Given the description of an element on the screen output the (x, y) to click on. 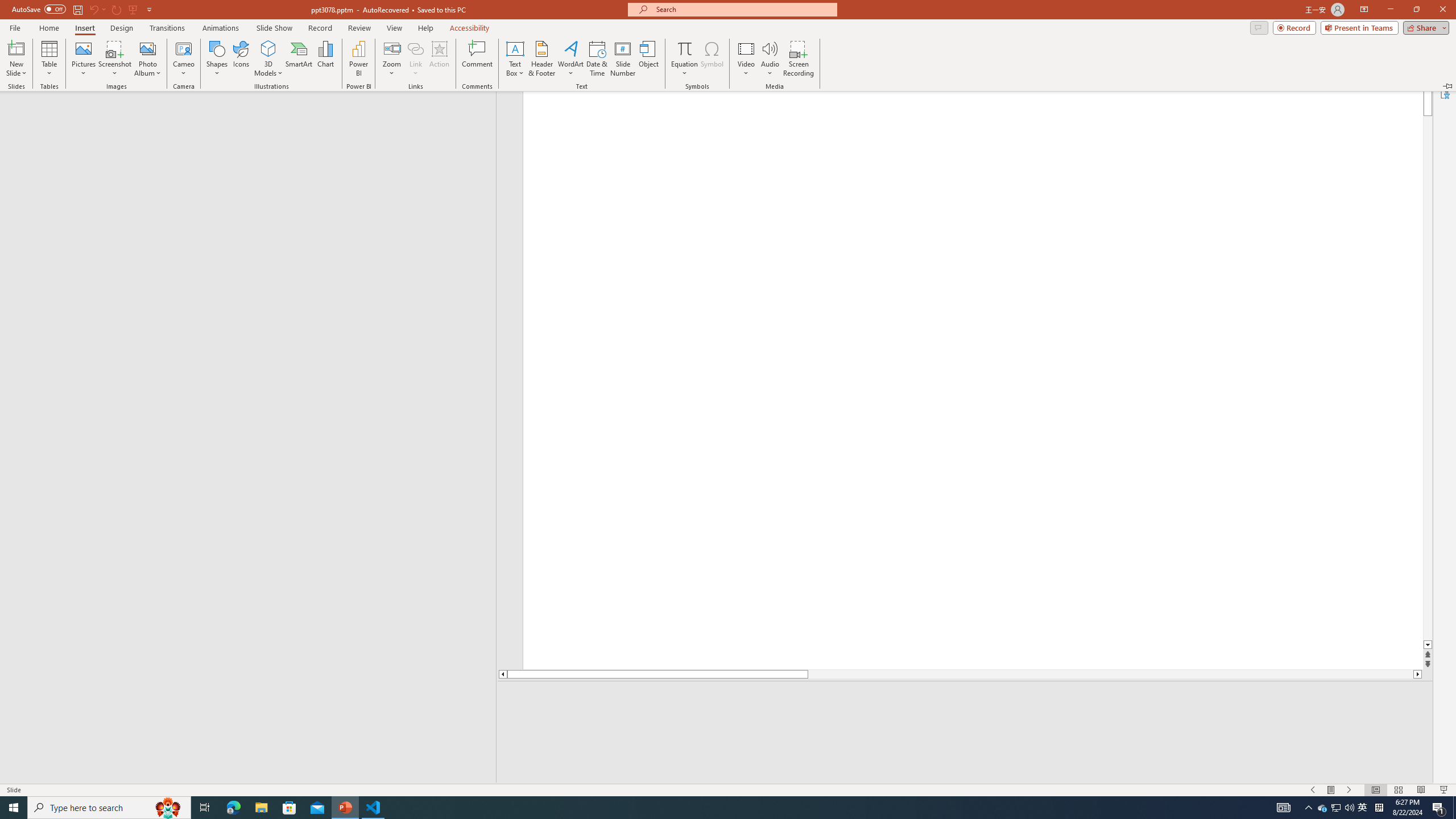
Menu On (1331, 790)
Search highlights icon opens search home window (167, 807)
